Given the description of an element on the screen output the (x, y) to click on. 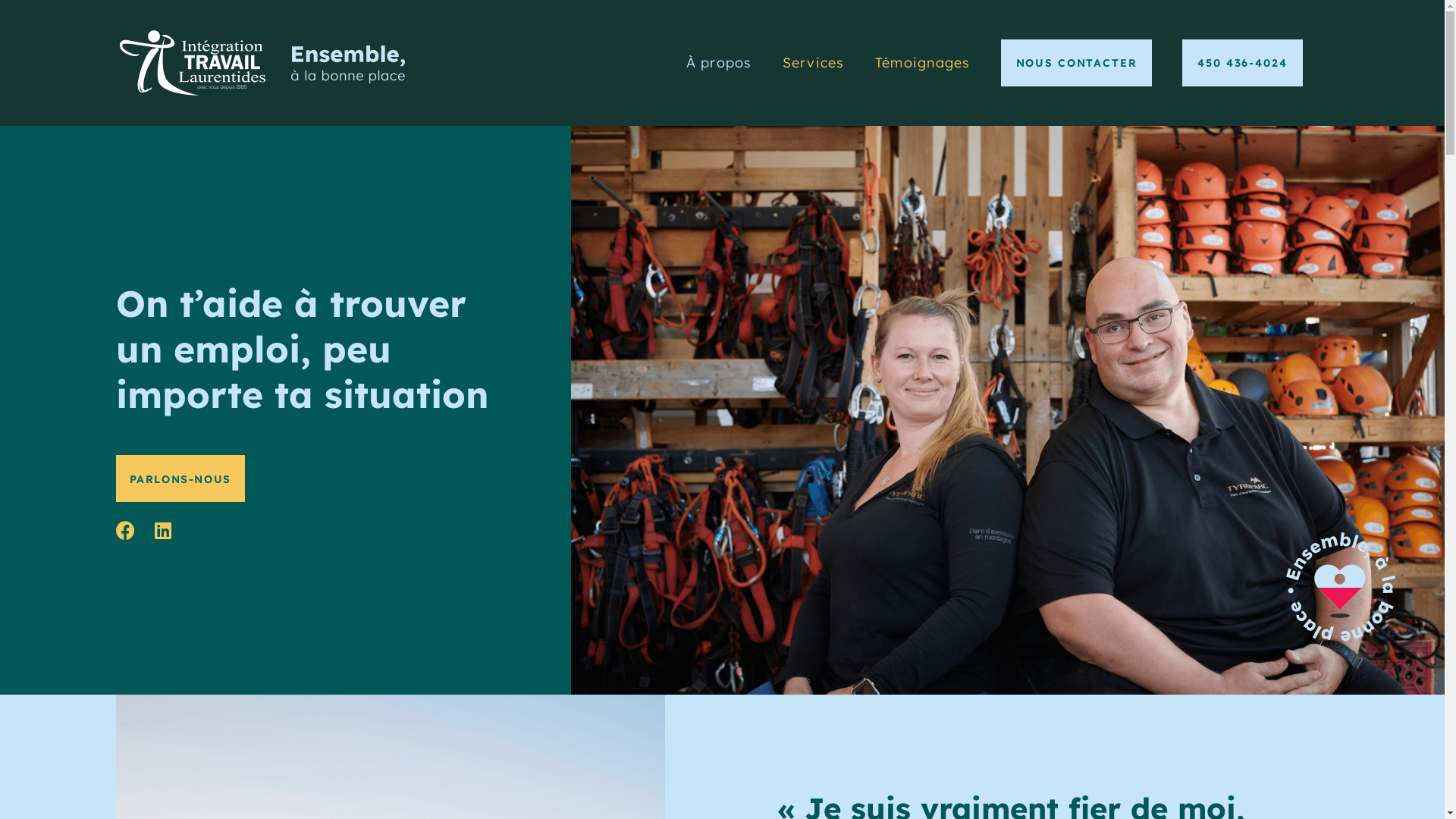
logo-ensemble-a-la-bonne-place Element type: hover (347, 64)
Services Element type: text (813, 62)
NOUS CONTACTER Element type: text (1076, 62)
LOGO_ITLaurentidesblanc Element type: hover (192, 62)
450 436-4024 Element type: text (1242, 62)
PARLONS-NOUS Element type: text (179, 478)
